Given the description of an element on the screen output the (x, y) to click on. 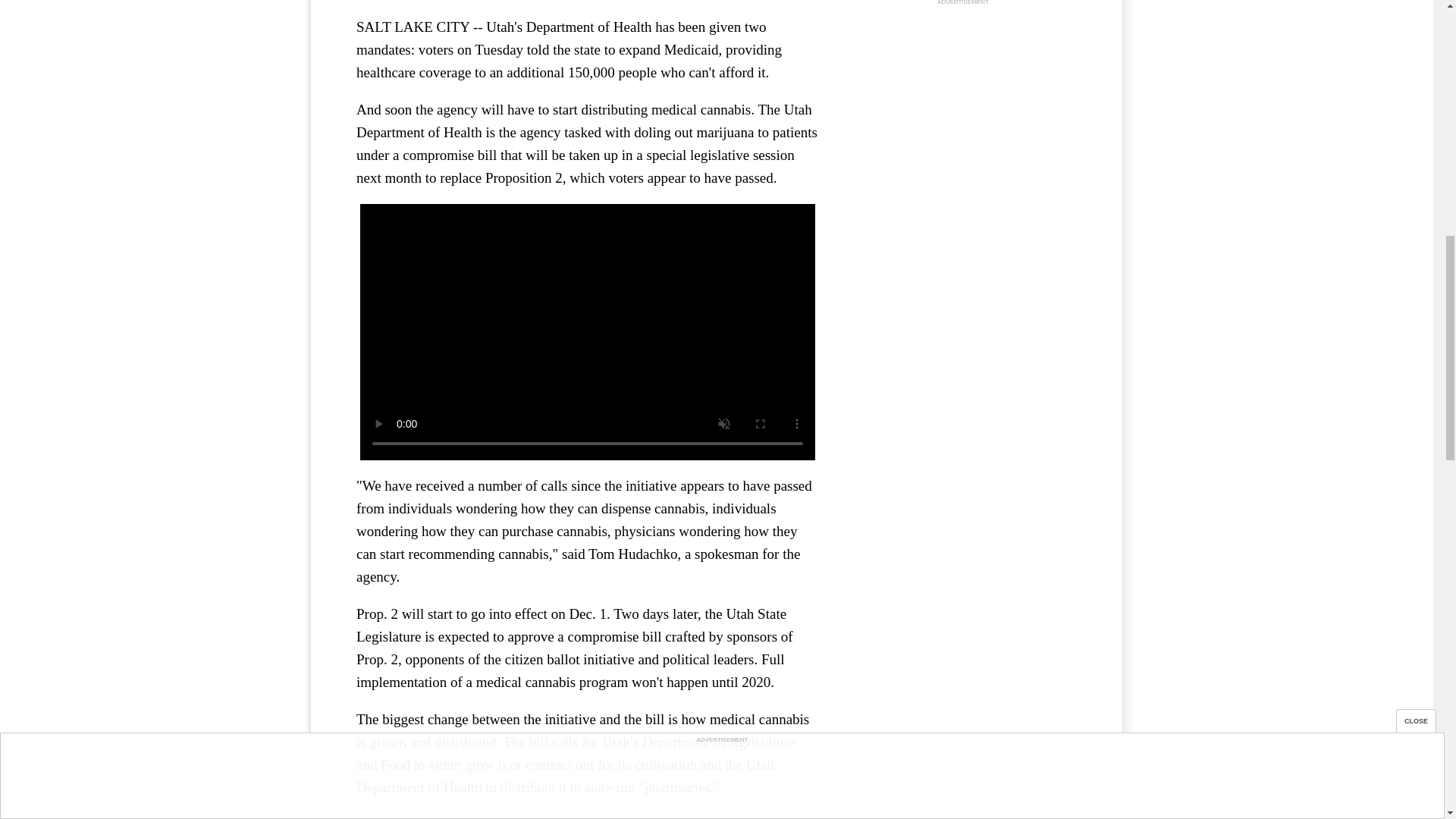
3rd party ad content (962, 104)
